Given the description of an element on the screen output the (x, y) to click on. 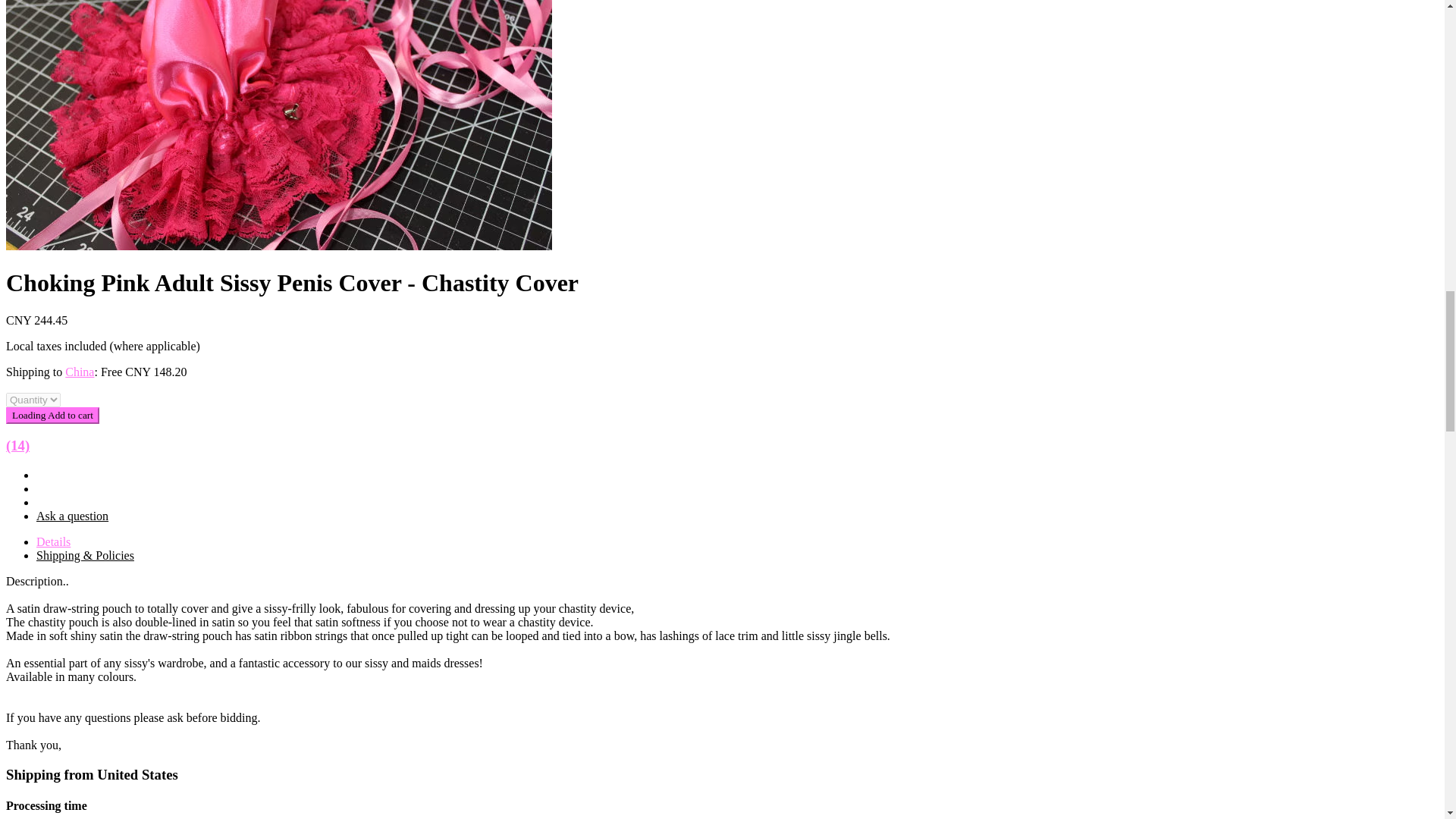
Ask a question (71, 515)
Details (52, 541)
China (79, 371)
Loading Add to cart (52, 415)
